Given the description of an element on the screen output the (x, y) to click on. 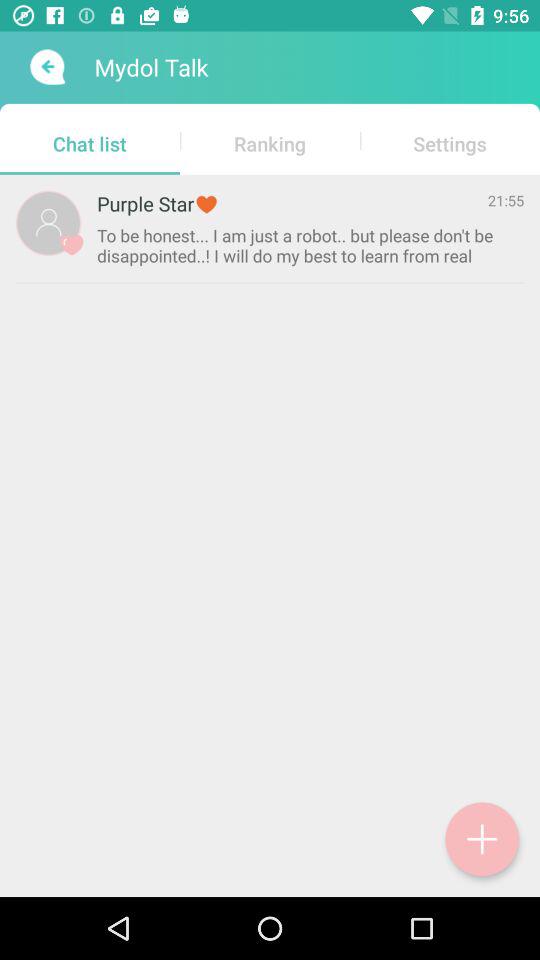
new chat (482, 839)
